Given the description of an element on the screen output the (x, y) to click on. 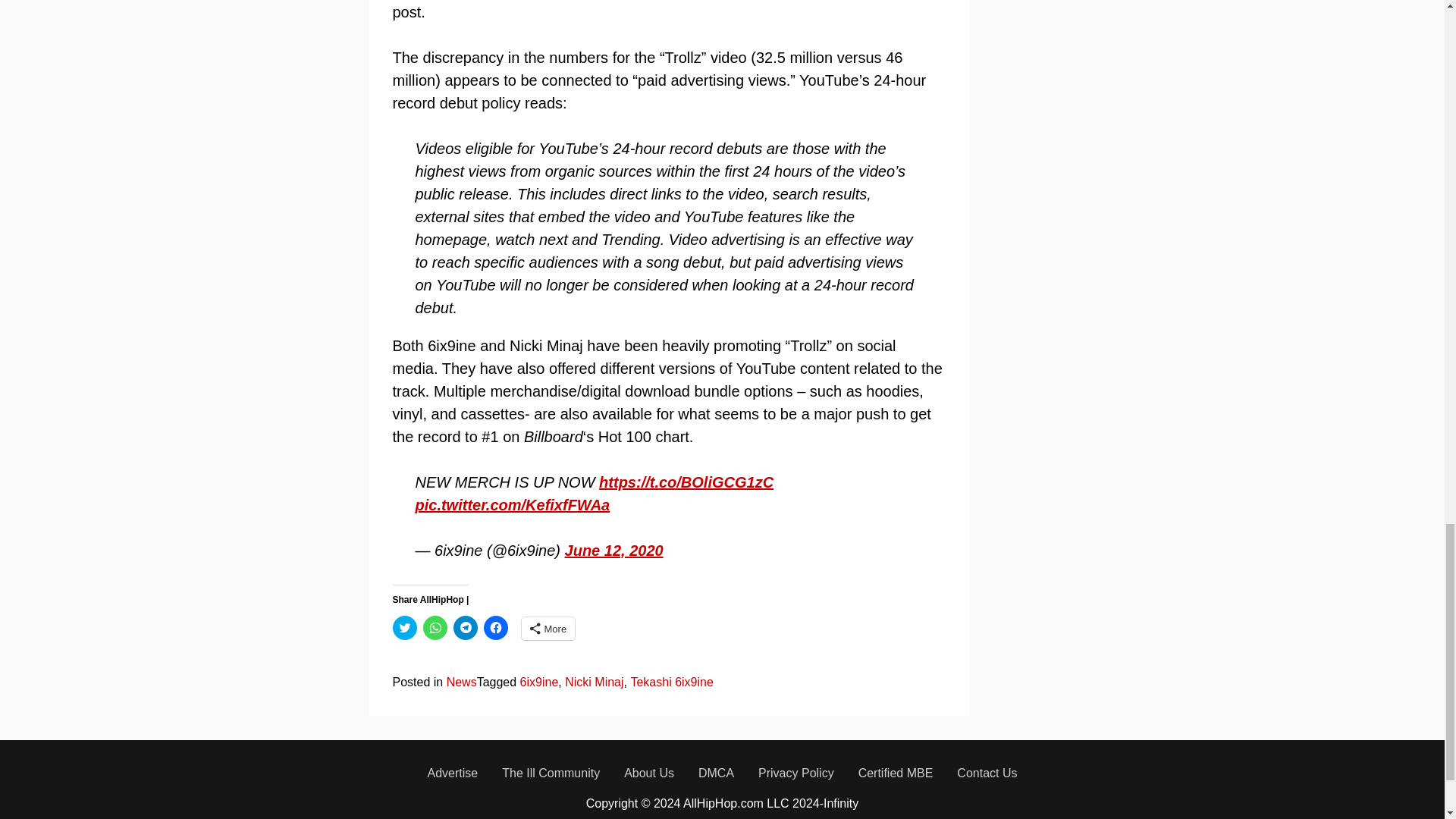
Click to share on WhatsApp (434, 627)
Click to share on Telegram (464, 627)
Click to share on Facebook (495, 627)
Click to share on Twitter (404, 627)
